Given the description of an element on the screen output the (x, y) to click on. 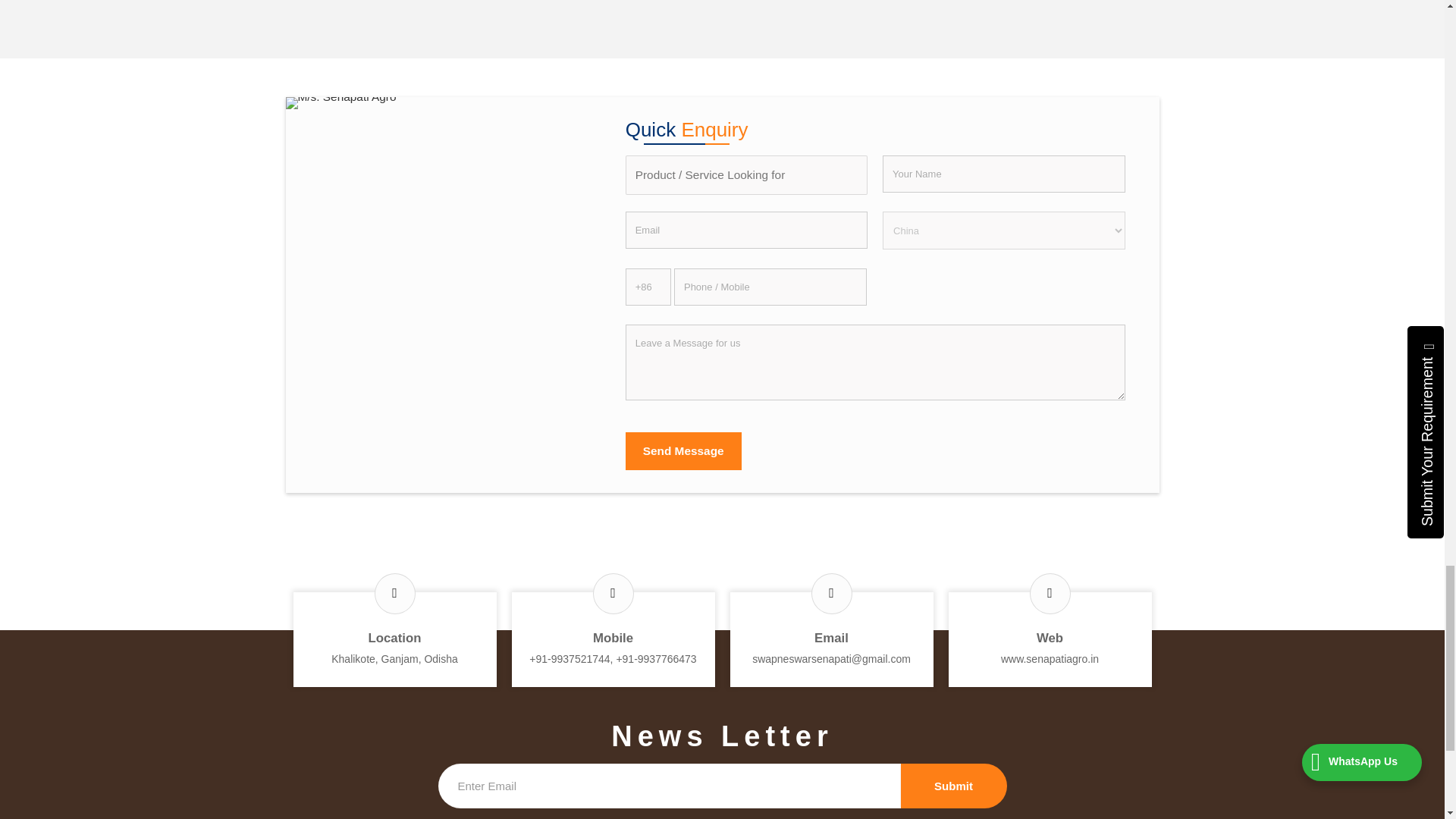
Enter Email (669, 785)
Submit (954, 785)
Send Message (683, 451)
